Given the description of an element on the screen output the (x, y) to click on. 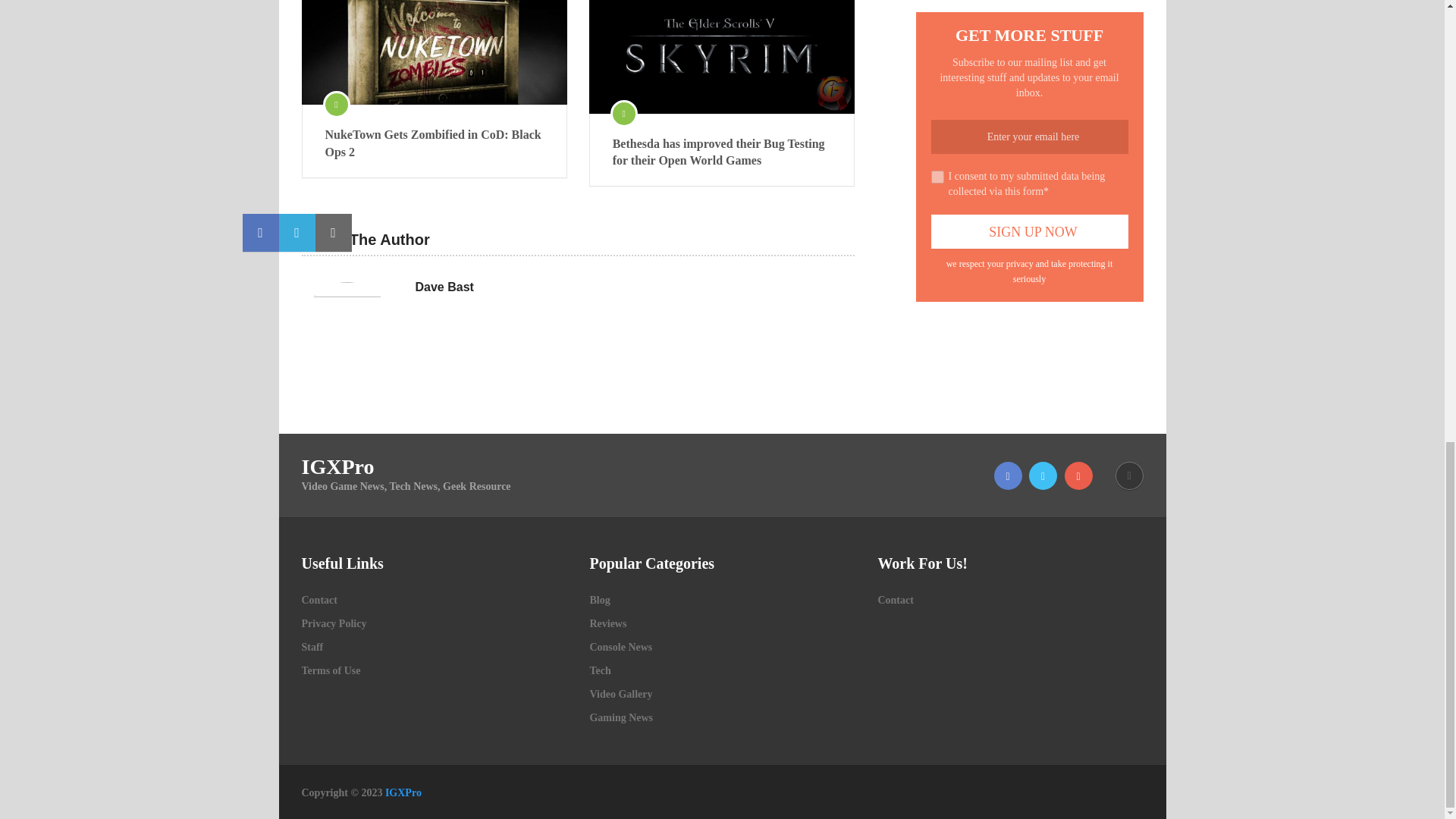
 Video Game News, Tech News, Geek Resource (403, 792)
Sign Up Now (1029, 231)
NukeTown Gets Zombified in CoD: Black Ops 2 (434, 52)
on (937, 176)
NukeTown Gets Zombified in CoD: Black Ops 2 (433, 143)
